Given the description of an element on the screen output the (x, y) to click on. 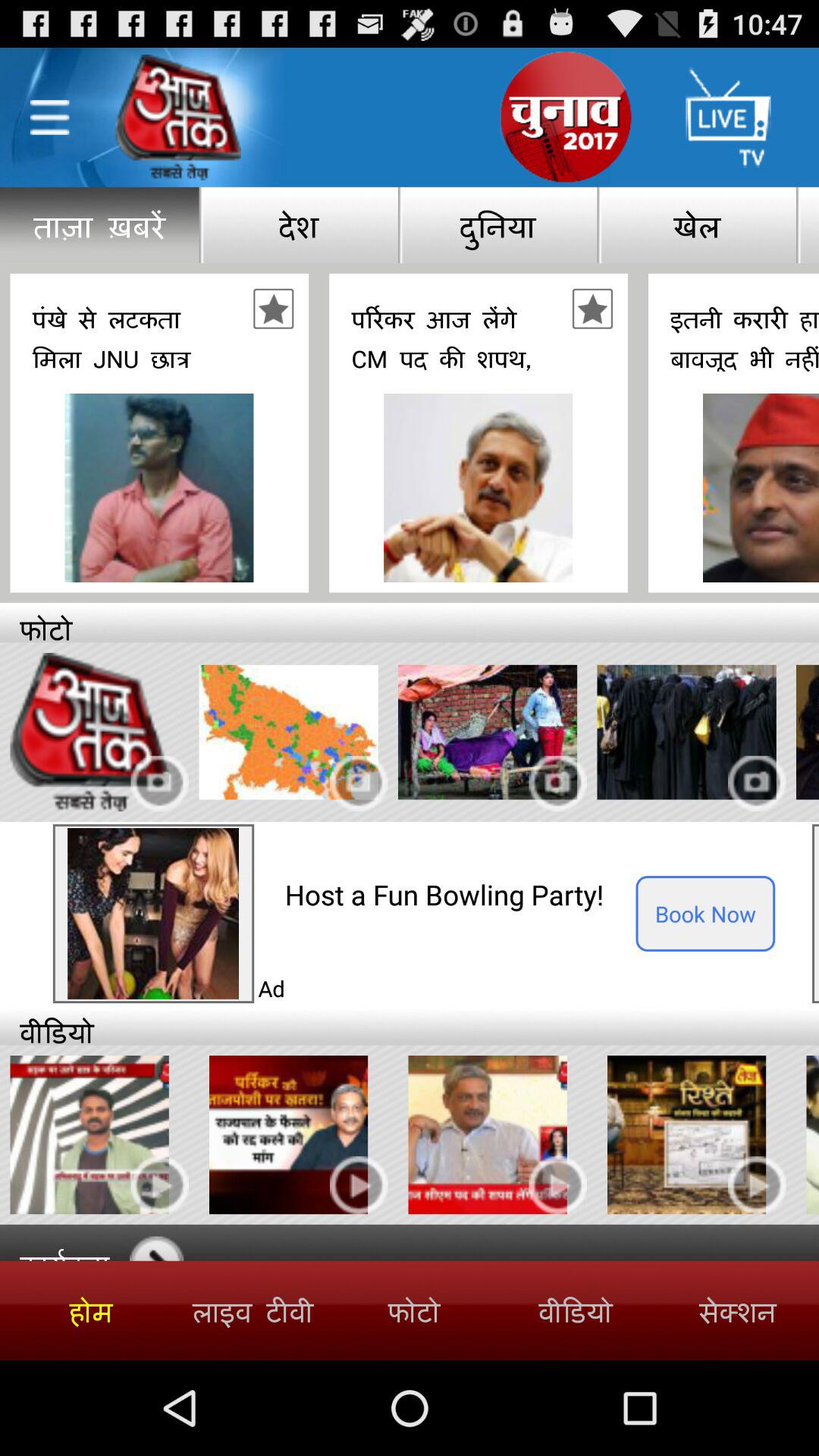
choose host a fun (459, 894)
